Given the description of an element on the screen output the (x, y) to click on. 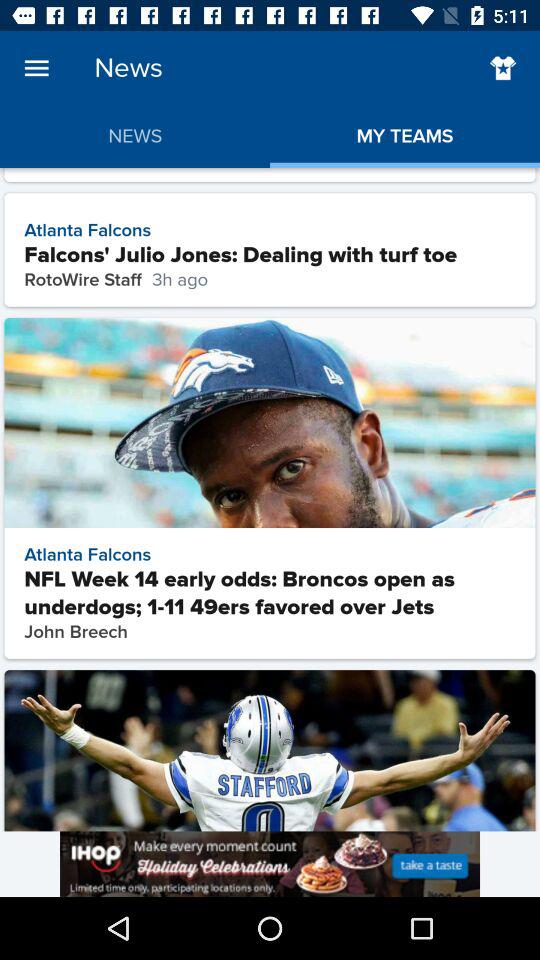
add to favorite (502, 68)
